Given the description of an element on the screen output the (x, y) to click on. 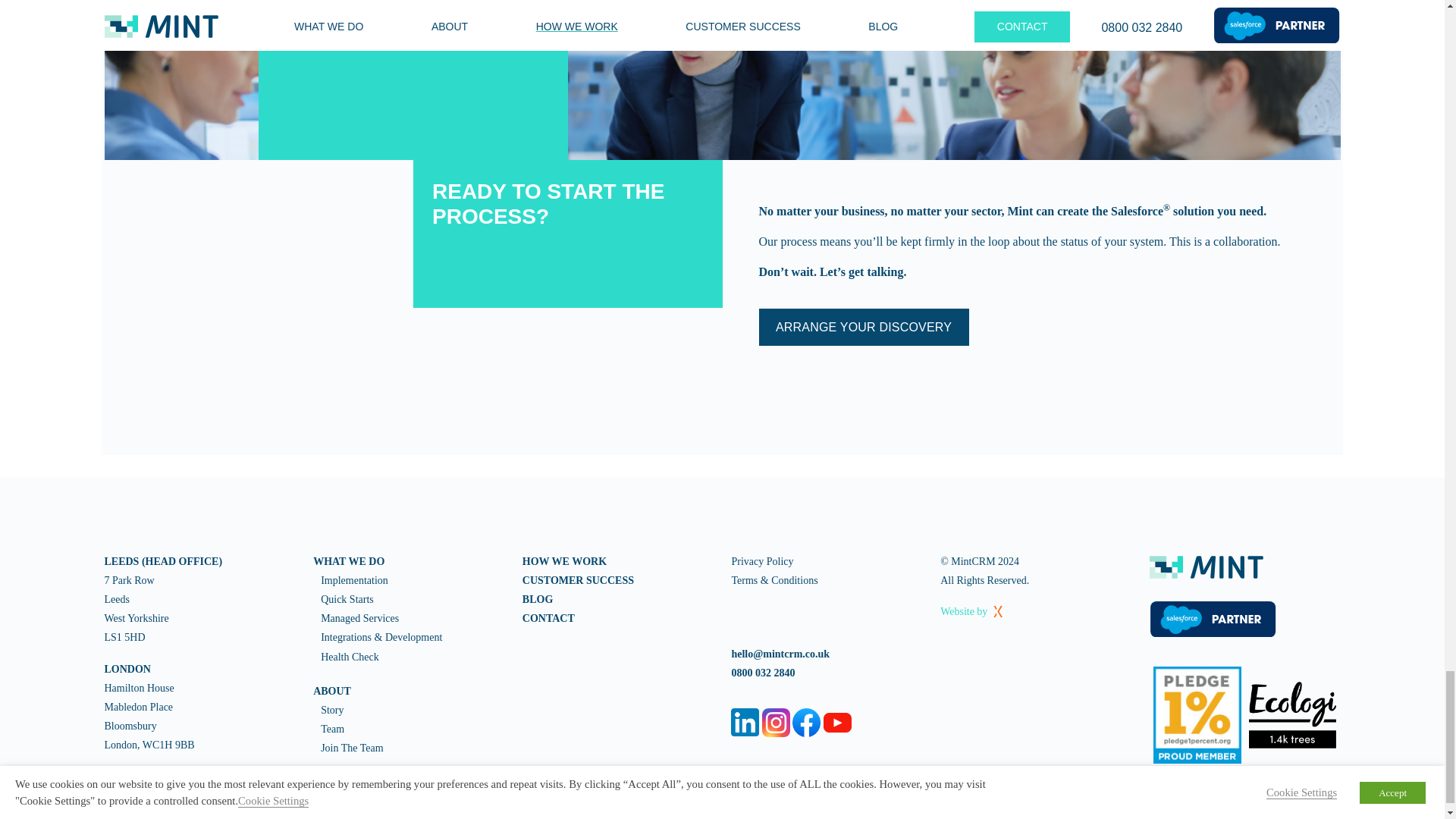
ARRANGE YOUR DISCOVERY (863, 327)
Instagram (775, 722)
Facebook (806, 722)
YouTube (837, 722)
View our Ecologi profile (1292, 714)
Linked In (744, 722)
